Given the description of an element on the screen output the (x, y) to click on. 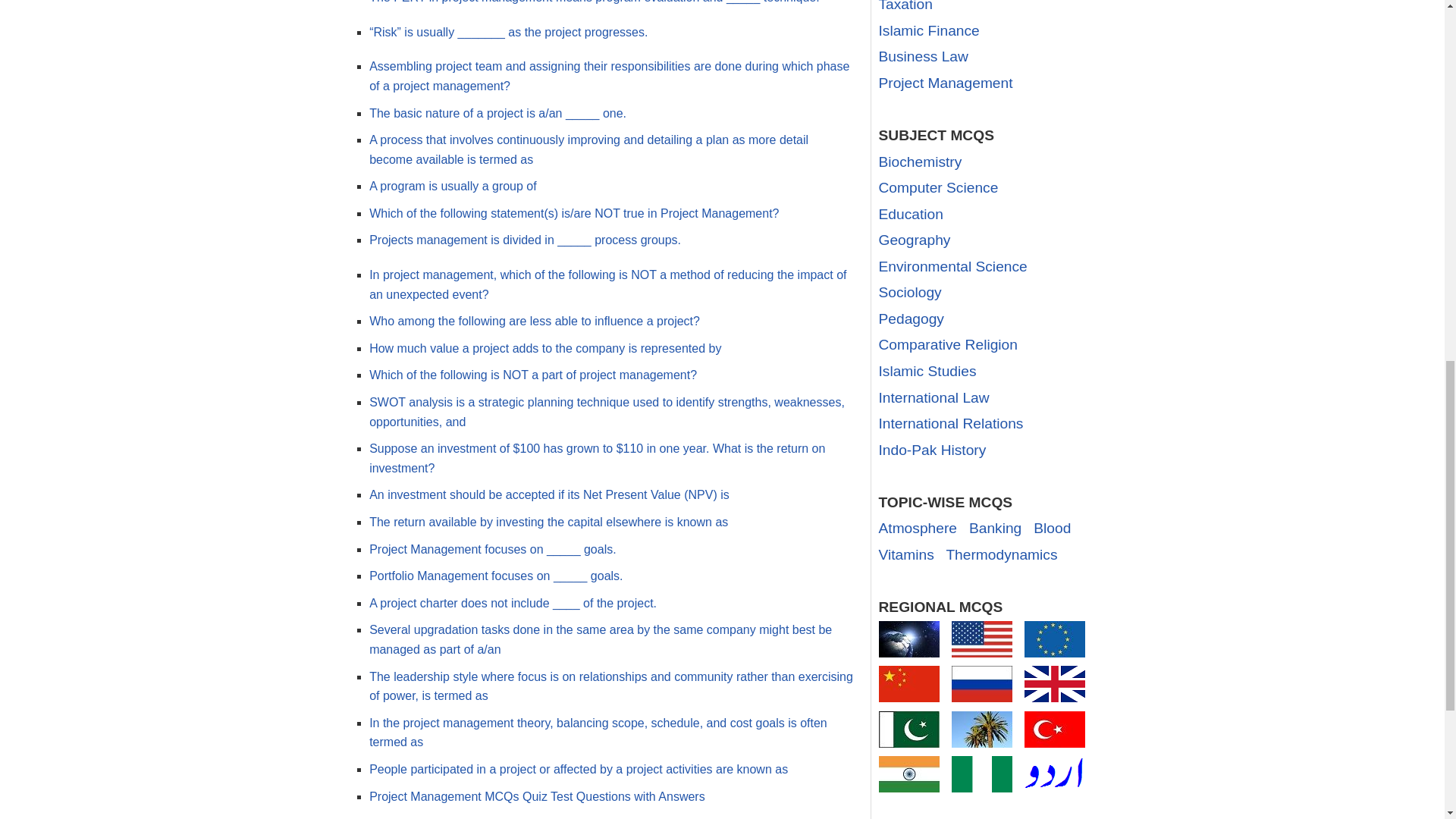
Which of the following is NOT a part of project management? (533, 374)
A program is usually a group of (453, 185)
